Given the description of an element on the screen output the (x, y) to click on. 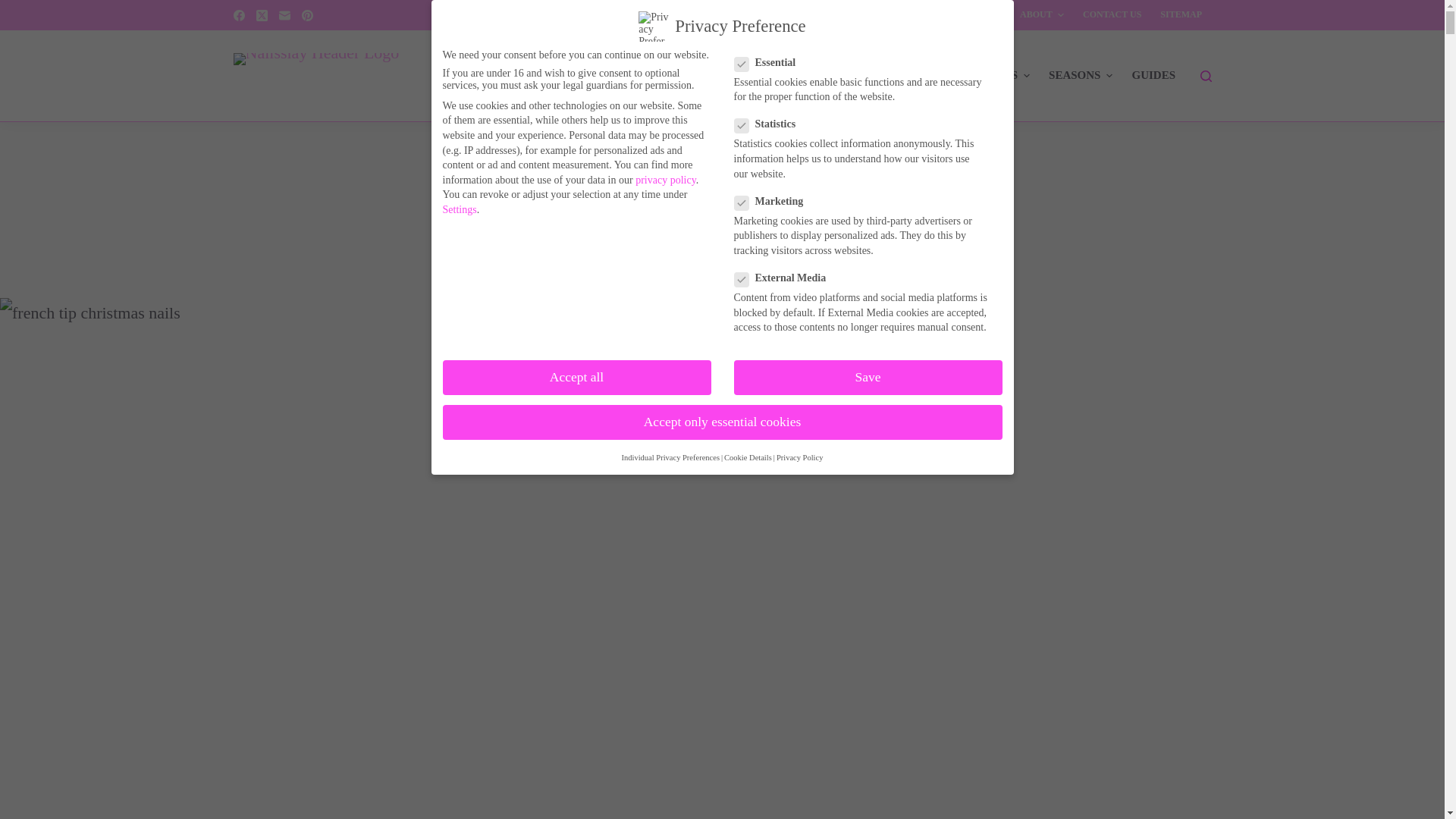
CONTACT US (1112, 15)
40 French Tip Christmas Nails: My Ultimate Guide 2024 (722, 216)
SITEMAP (1181, 15)
Skip to content (15, 7)
ABOUT (1041, 15)
Posts by Elisa (478, 256)
SEASONS (1080, 75)
OCCASIONS (989, 75)
